Given the description of an element on the screen output the (x, y) to click on. 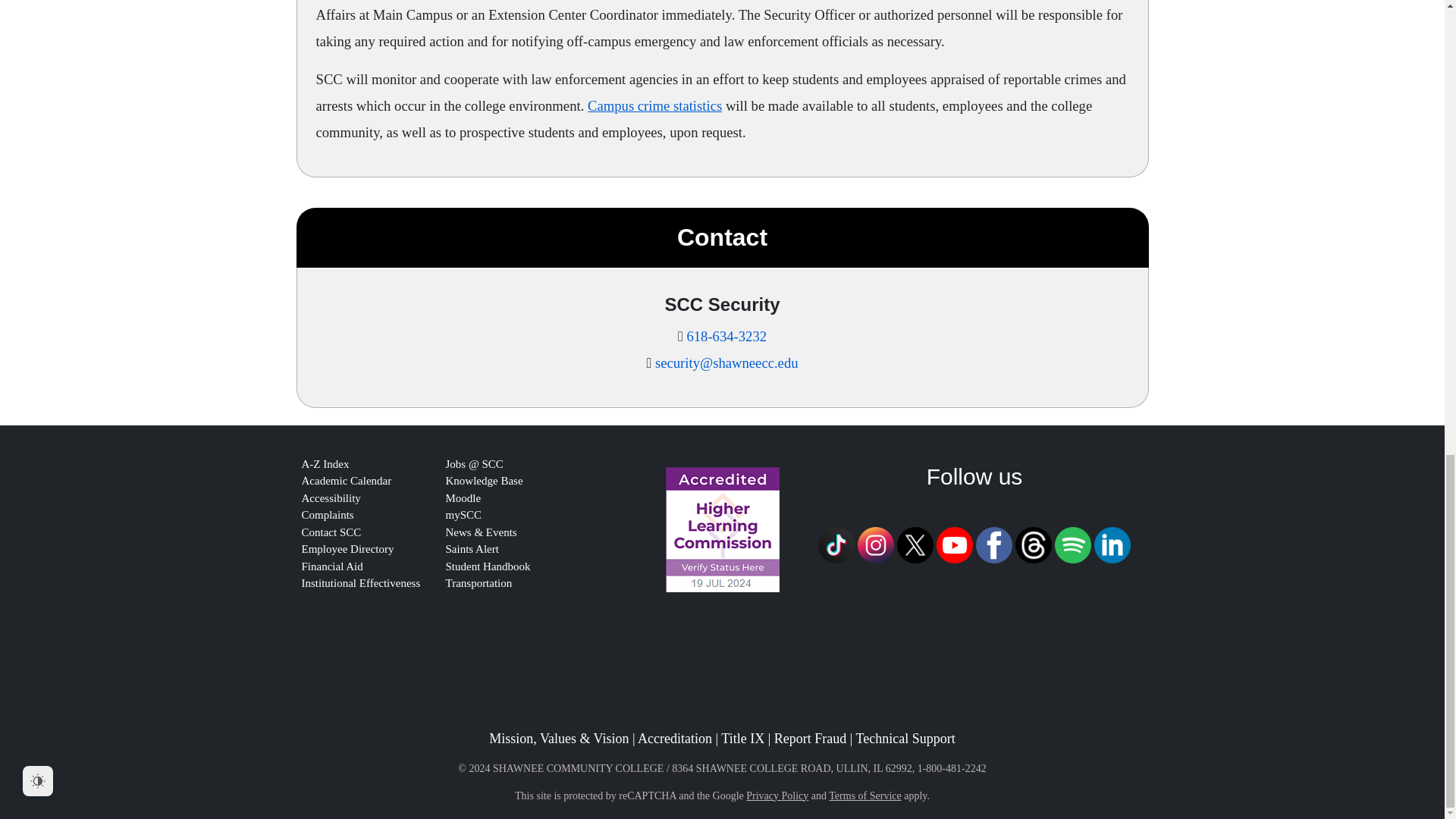
youtube (954, 543)
spotify (1072, 543)
threads (1032, 545)
threads (1032, 543)
tiktok (836, 545)
twitter (914, 543)
instagram (875, 545)
Accredited Higher Learning (721, 529)
facebook (993, 545)
twitter (914, 545)
facebook (993, 543)
youtube (954, 545)
tiktok (836, 543)
instagram (875, 543)
